Given the description of an element on the screen output the (x, y) to click on. 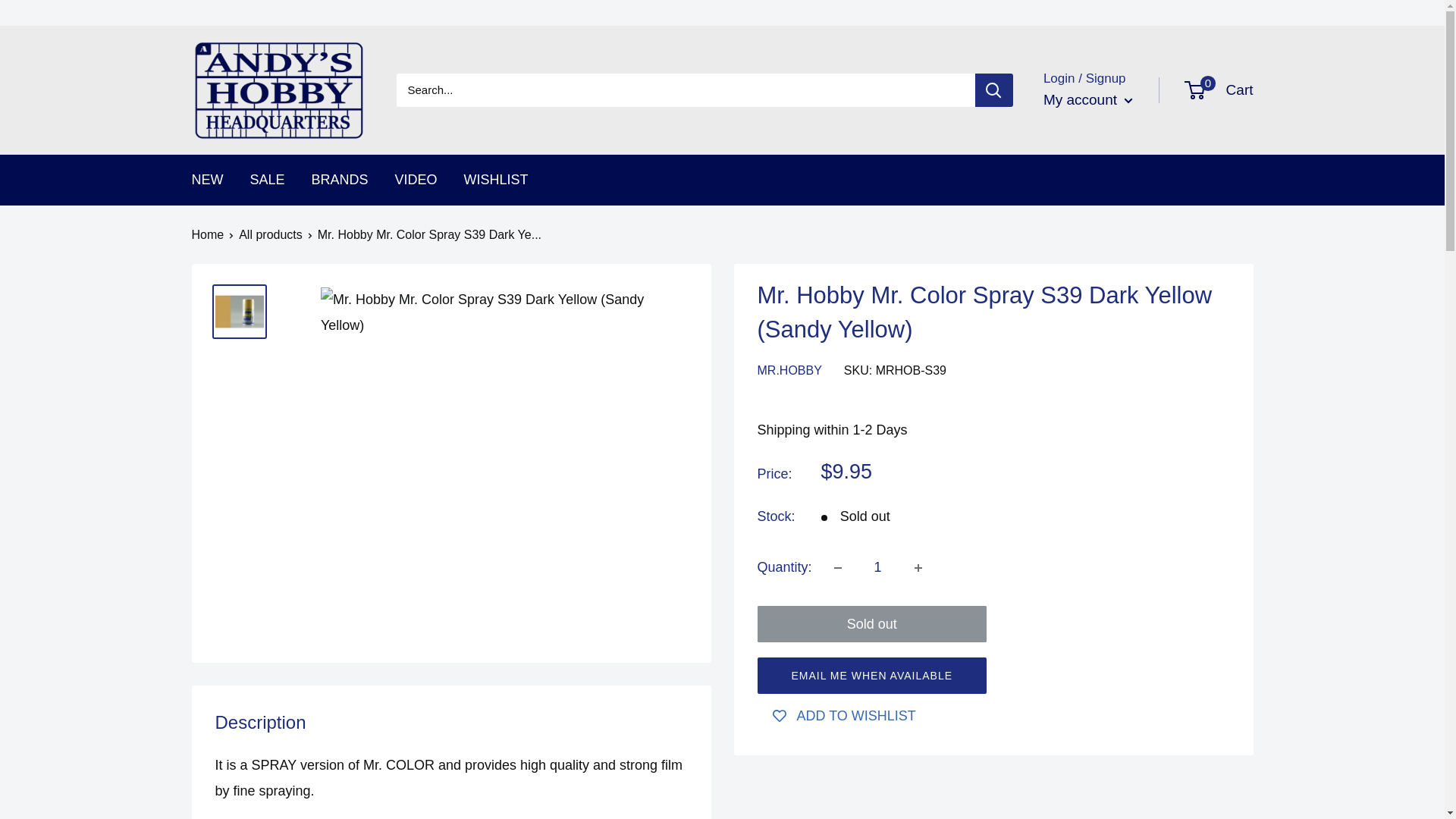
BRANDS (339, 180)
Sold out (872, 624)
Decrease quantity by 1 (837, 567)
SALE (267, 180)
VIDEO (416, 180)
WISHLIST (1219, 90)
All products (496, 180)
Increase quantity by 1 (270, 234)
My account (918, 567)
